Given the description of an element on the screen output the (x, y) to click on. 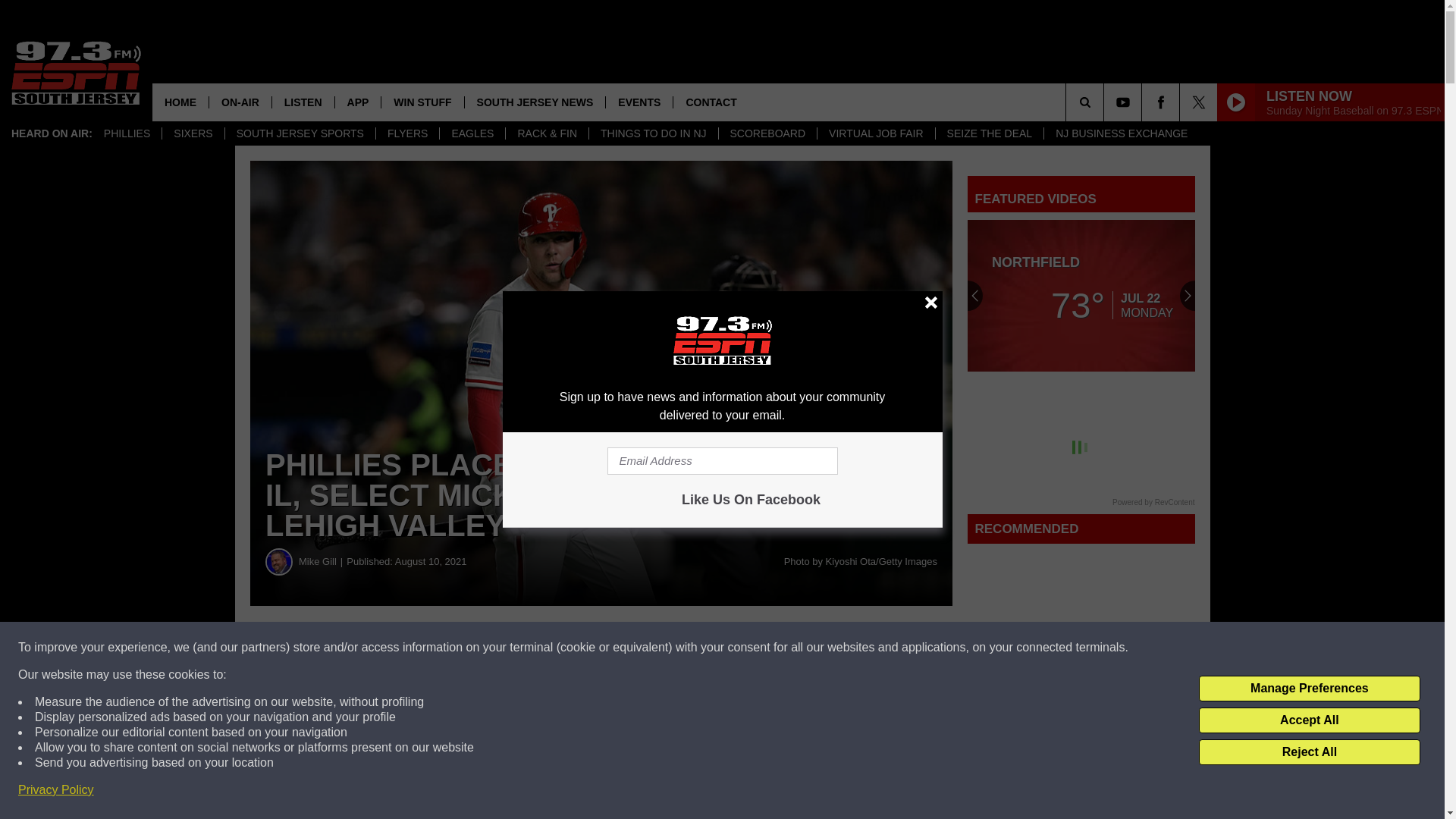
SEARCH (1106, 102)
FLYERS (407, 133)
THINGS TO DO IN NJ (652, 133)
SEIZE THE DEAL (988, 133)
ON-AIR (239, 102)
SIXERS (192, 133)
Manage Preferences (1309, 688)
HOME (180, 102)
Northfield Weather (1081, 295)
Share on Facebook (460, 647)
Email Address (722, 461)
Share on Twitter (741, 647)
SEARCH (1106, 102)
SCOREBOARD (766, 133)
PHILLIES (127, 133)
